Given the description of an element on the screen output the (x, y) to click on. 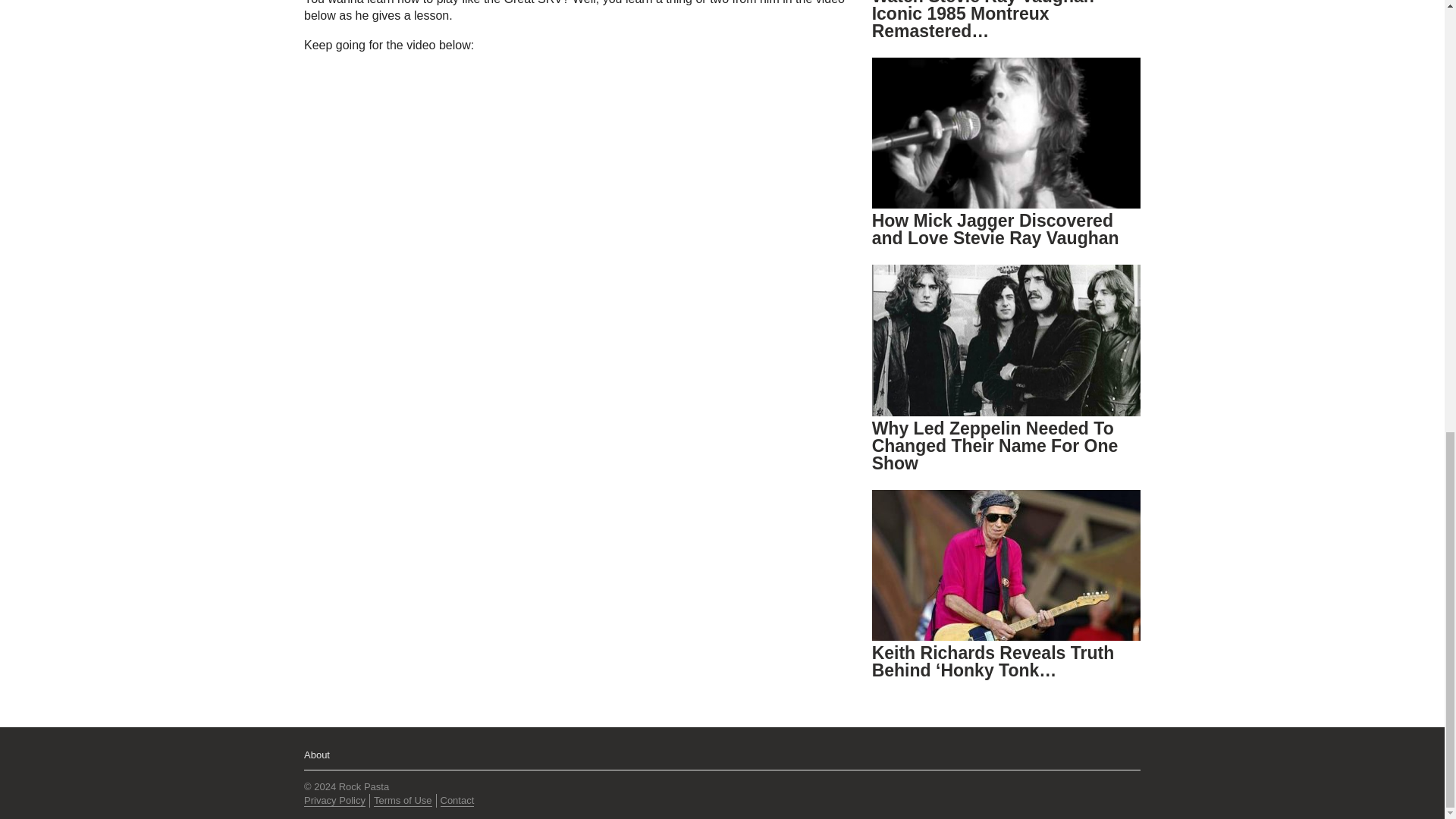
How Mick Jagger Discovered and Love Stevie Ray Vaughan (995, 229)
Stevie Ray Vaughan Guitar Lesson (493, 208)
Why Led Zeppelin Needed To Changed Their Name For One Show (995, 445)
